Given the description of an element on the screen output the (x, y) to click on. 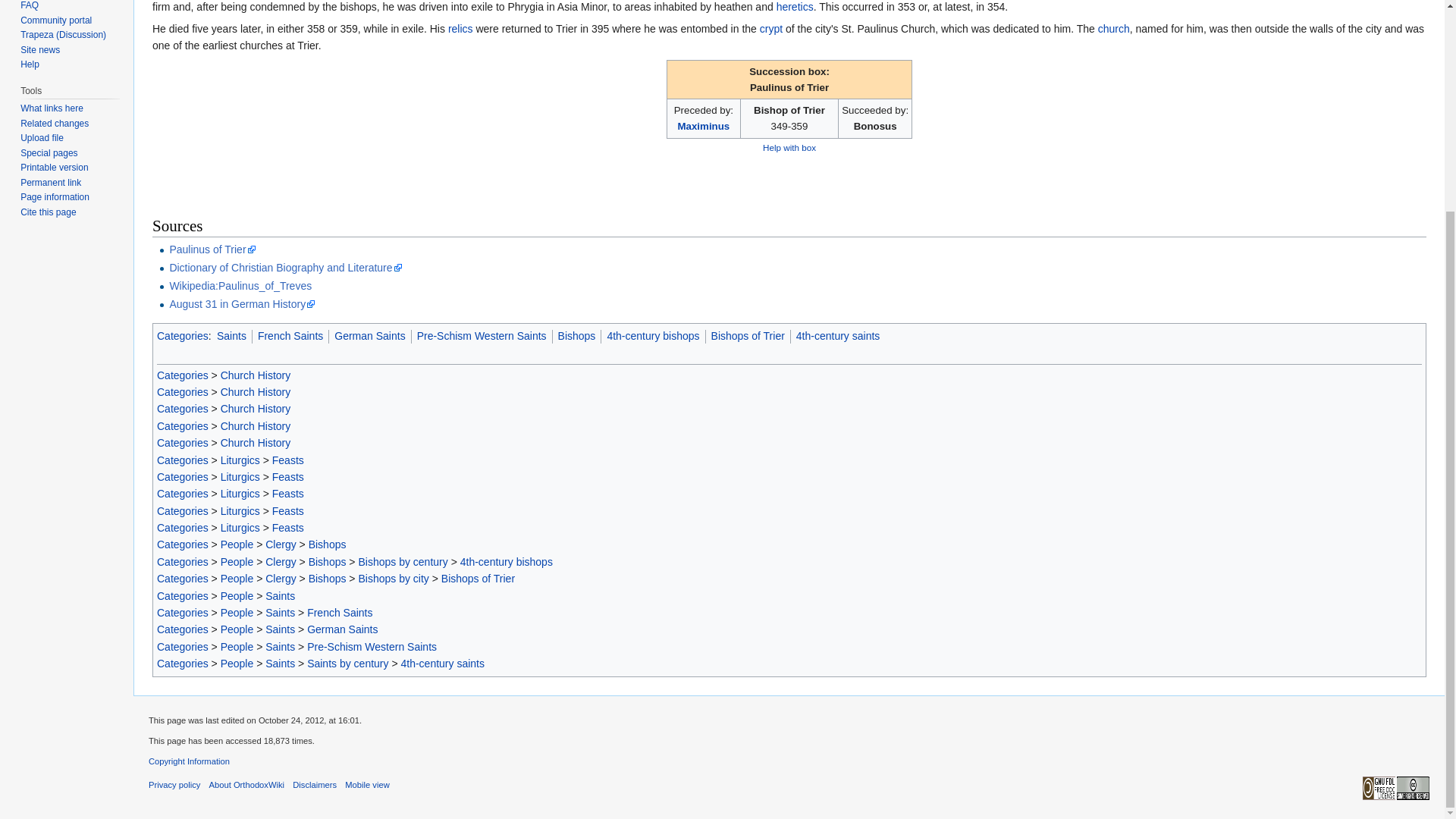
Bishops (576, 336)
Relics (460, 28)
Church History (256, 391)
Category:Saints (231, 336)
Church History (256, 408)
Dictionary of Christian Biography and Literature (284, 267)
wikipedia:Paulinus of Treves (239, 285)
French Saints (290, 336)
4th-century saints (838, 336)
Categories (182, 408)
